Given the description of an element on the screen output the (x, y) to click on. 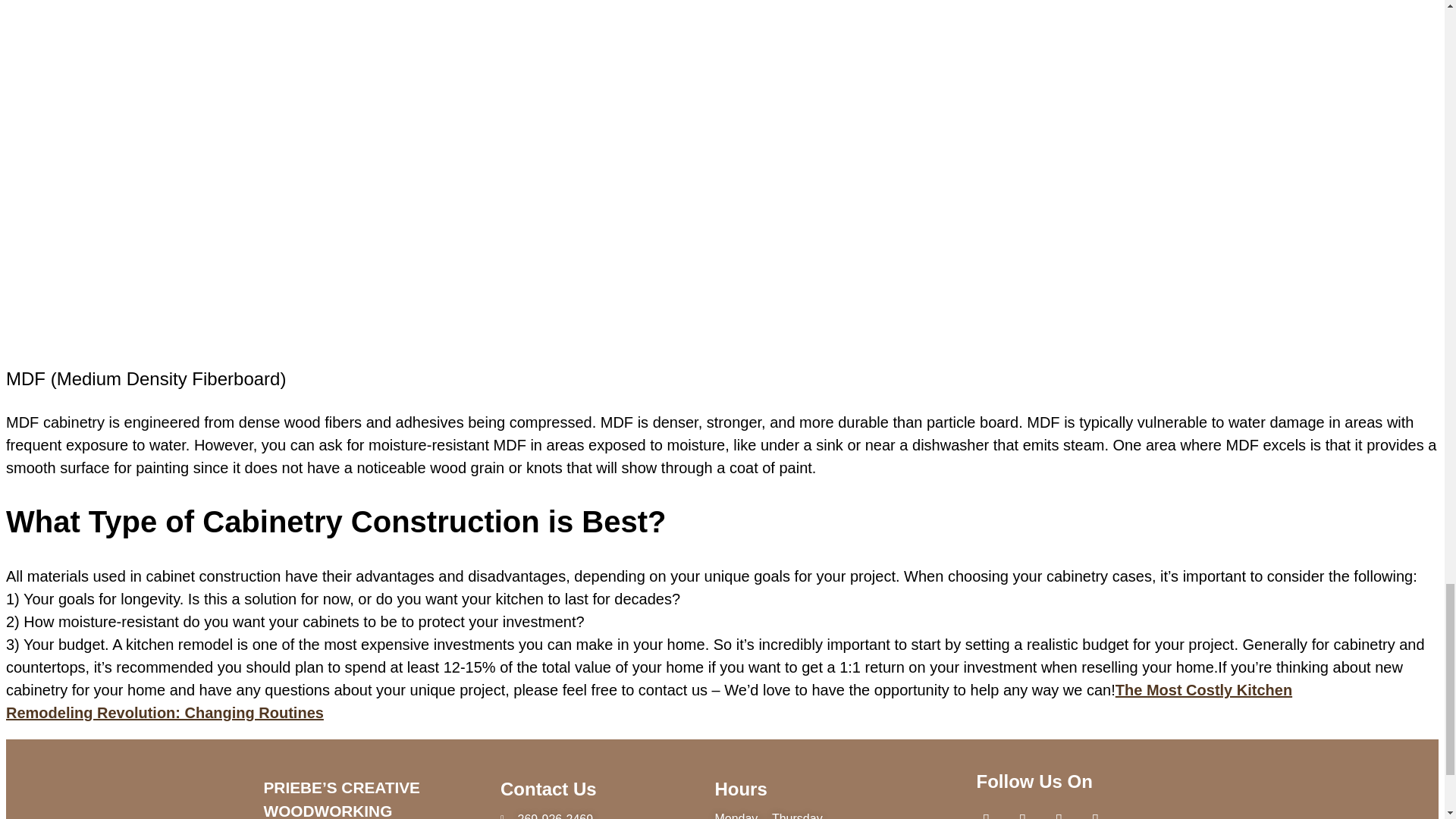
The Most Costly Kitchen (1203, 689)
269-926-2469 (592, 814)
Remodeling Revolution: Changing Routines (164, 712)
